Given the description of an element on the screen output the (x, y) to click on. 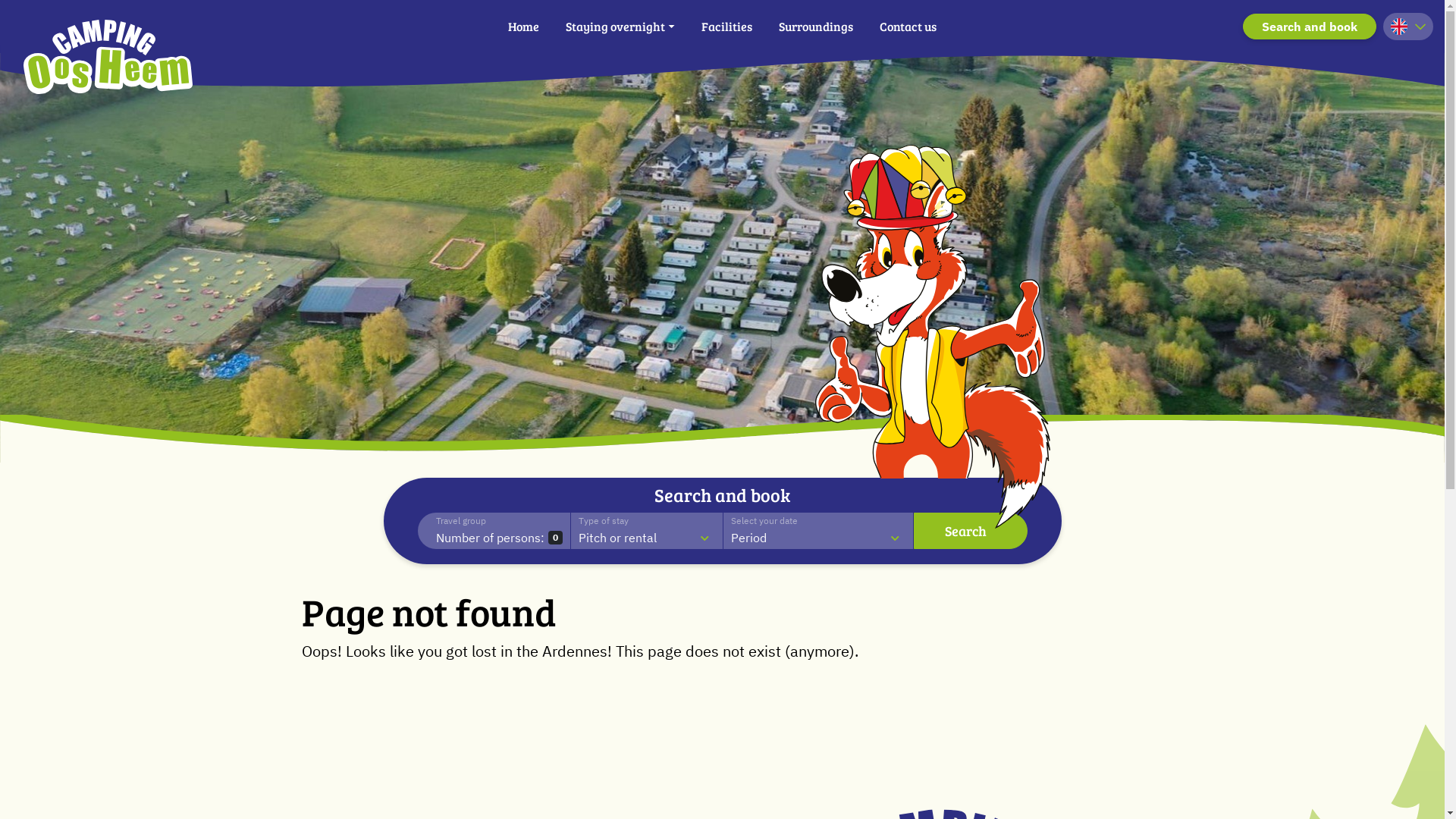
Contact us Element type: text (907, 26)
Home Element type: text (523, 26)
Search Element type: text (969, 530)
Facilities Element type: text (726, 26)
Surroundings Element type: text (815, 26)
Staying overnight Element type: text (619, 26)
Search and book Element type: text (1309, 26)
